Given the description of an element on the screen output the (x, y) to click on. 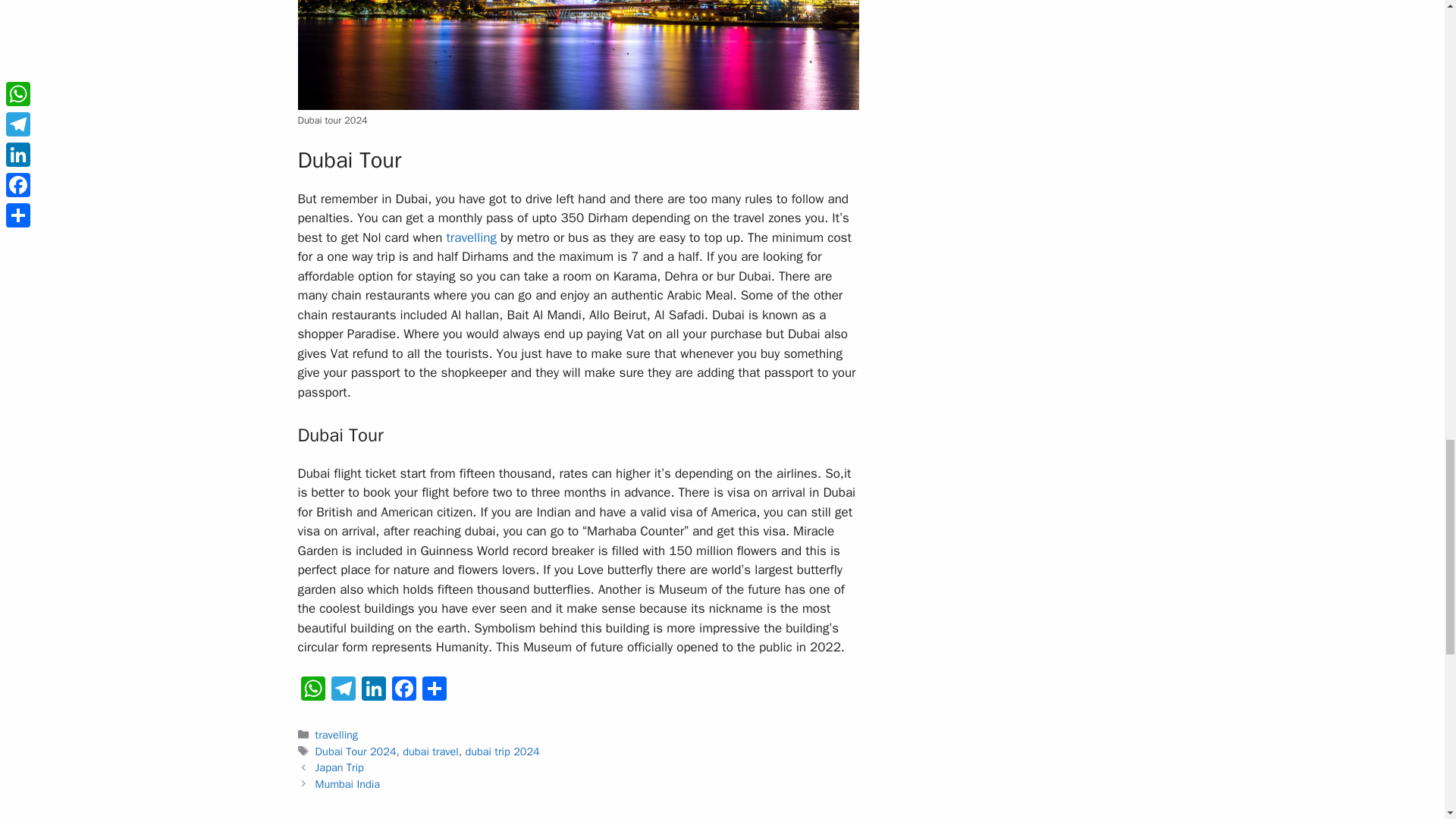
Facebook (403, 690)
LinkedIn (373, 690)
LinkedIn (373, 690)
WhatsApp (312, 690)
Japan Trip (339, 766)
Dubai Tour 2024 (355, 751)
travelling (470, 237)
Telegram (342, 690)
WhatsApp (312, 690)
dubai trip 2024 (501, 751)
